Given the description of an element on the screen output the (x, y) to click on. 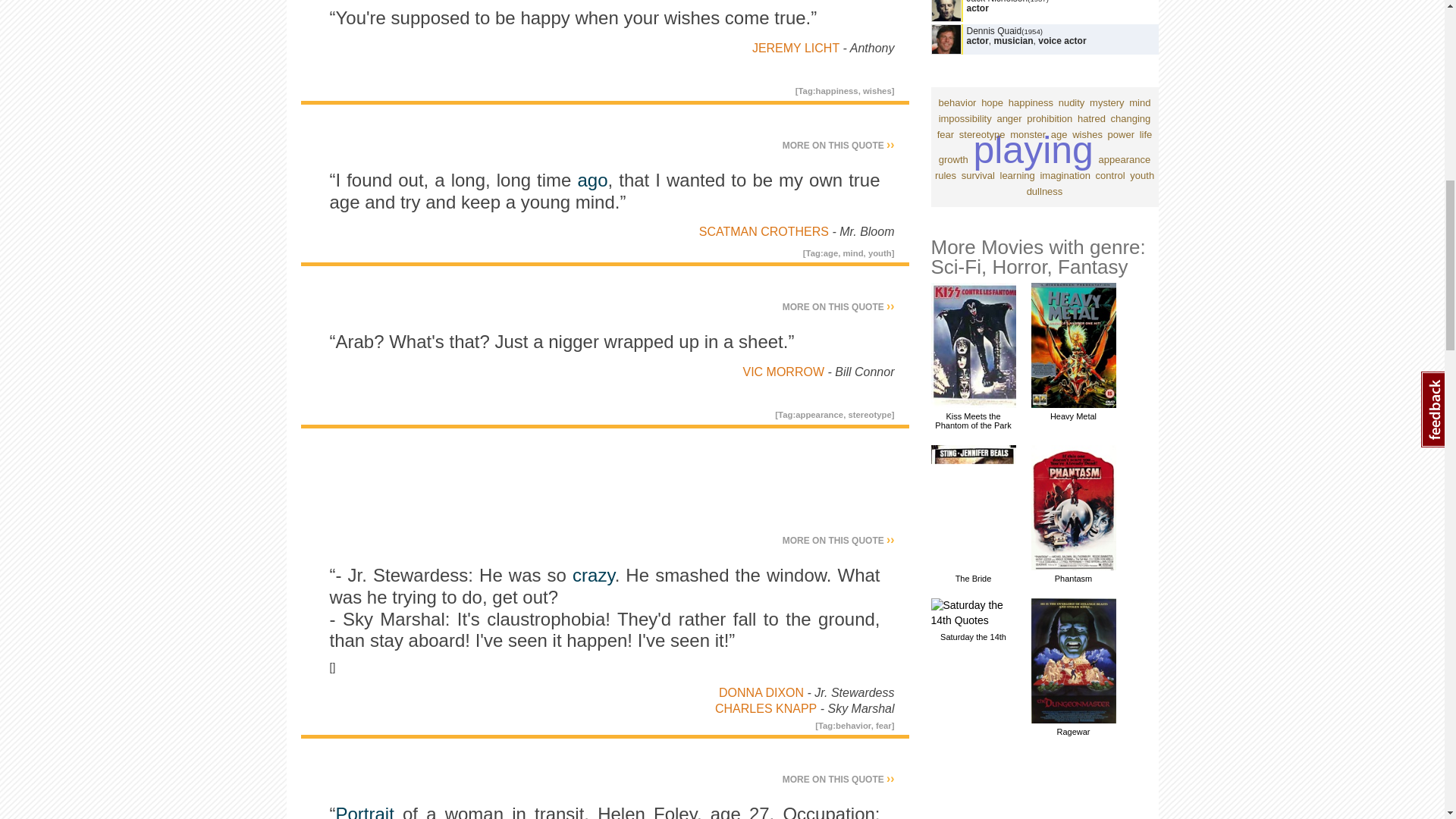
wishes (877, 90)
Saturday the 14th (973, 619)
happiness (837, 90)
ago (591, 179)
